Given the description of an element on the screen output the (x, y) to click on. 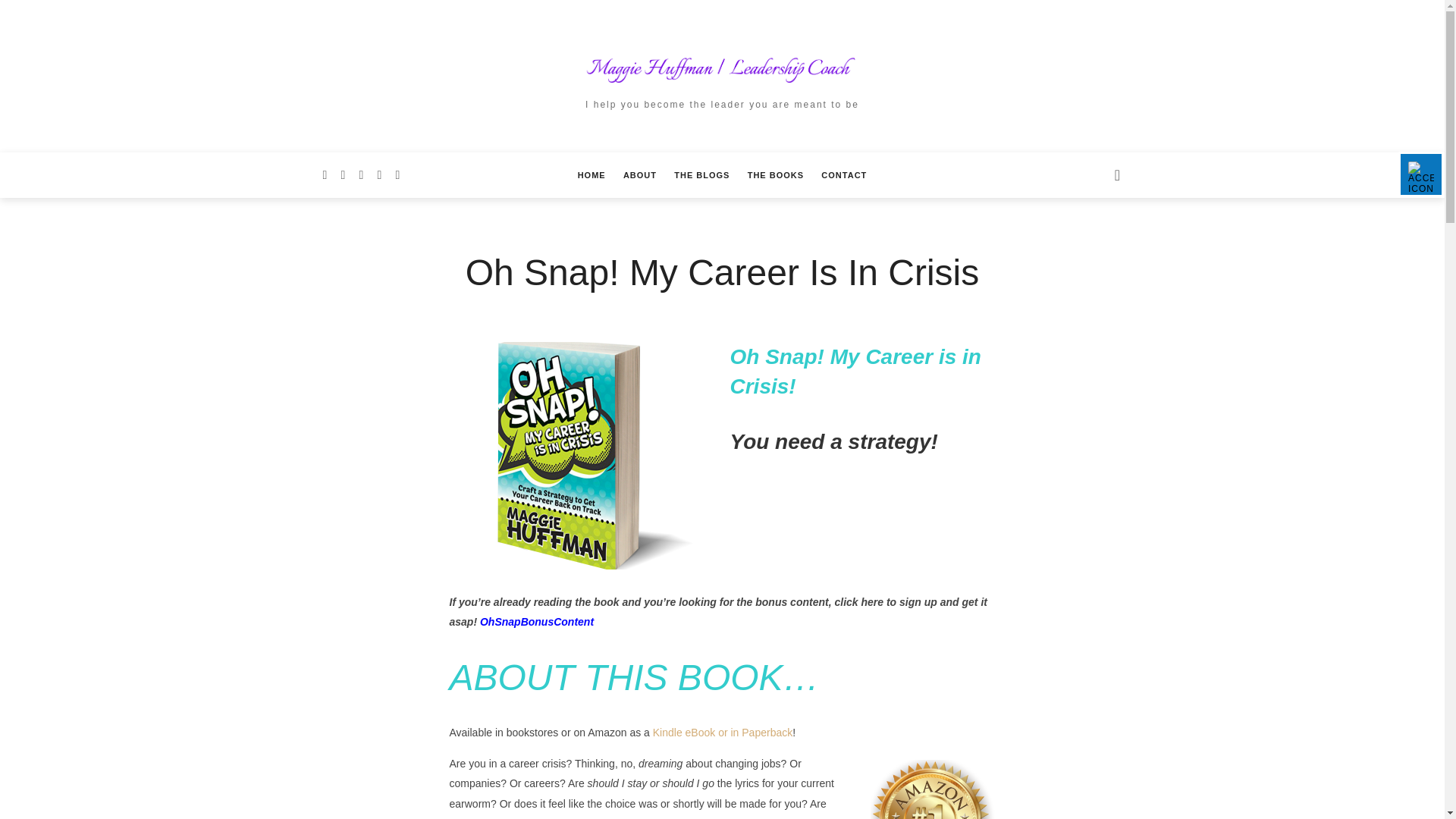
OhSnapBonusContent (537, 621)
CONTACT (843, 175)
Kindle eBook or in Paperback (722, 732)
THE BLOGS (701, 175)
THE BOOKS (775, 175)
